Given the description of an element on the screen output the (x, y) to click on. 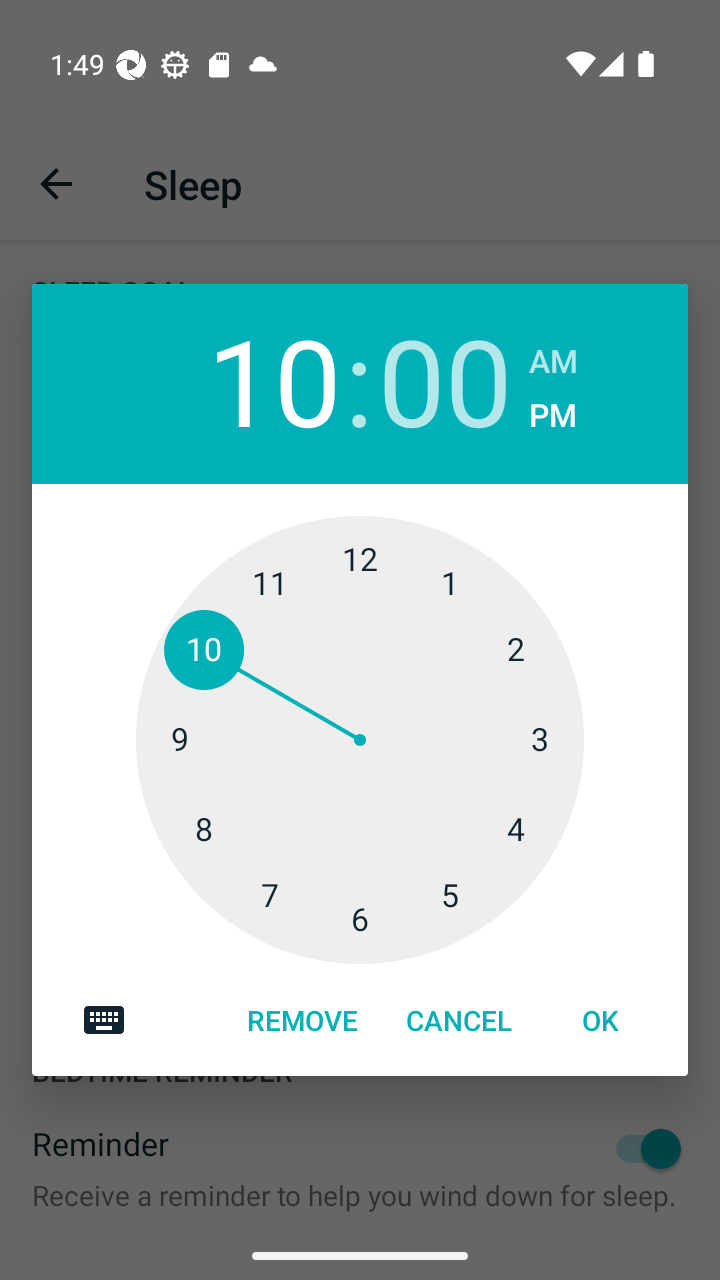
10 (273, 379)
00 (445, 379)
AM (553, 361)
PM (552, 415)
Switch to text input mode for the time input. (103, 1019)
REMOVE (302, 1019)
CANCEL (458, 1019)
OK (599, 1019)
